Given the description of an element on the screen output the (x, y) to click on. 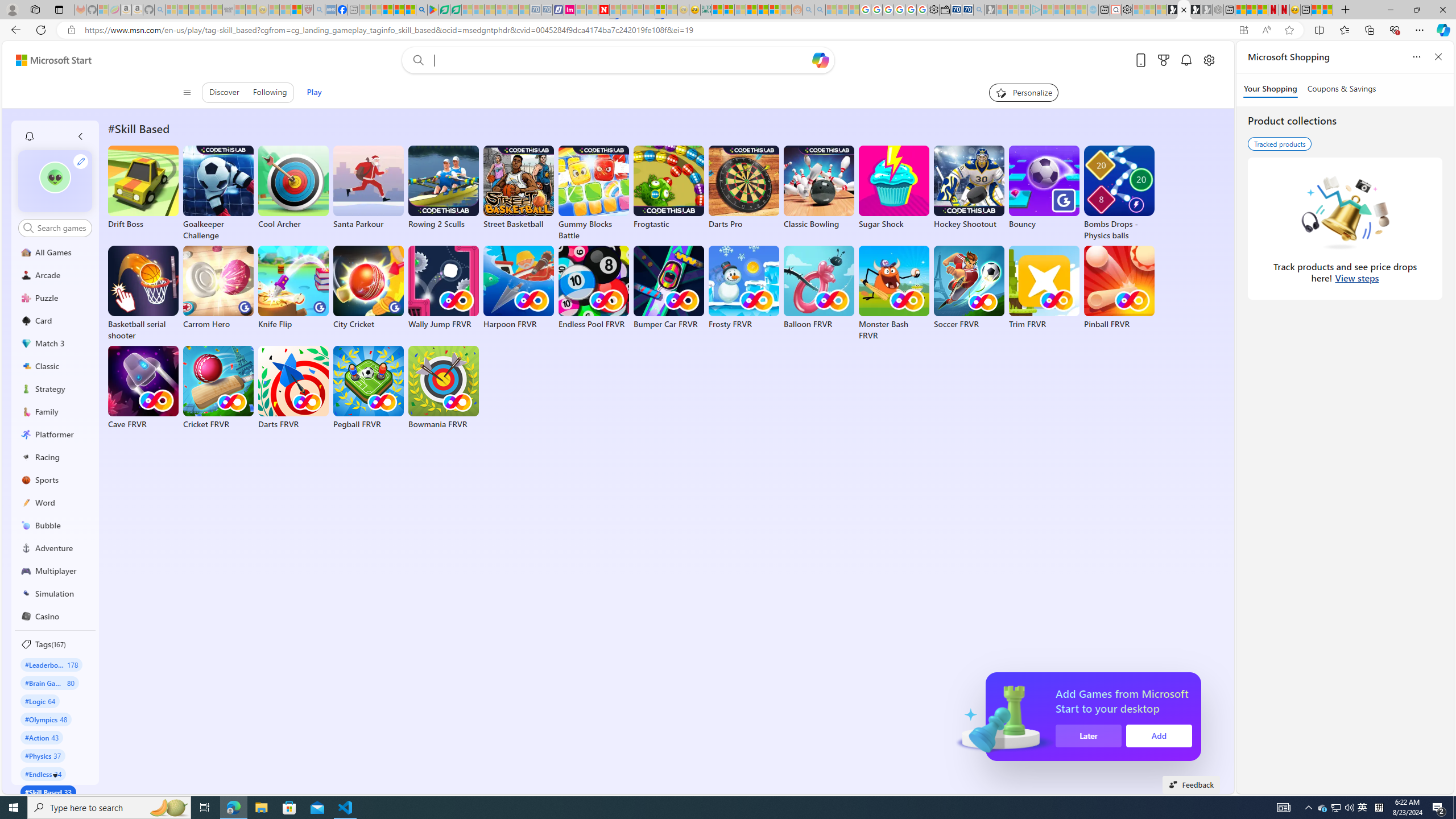
#Leaderboard 178 (51, 664)
Kinda Frugal - MSN (762, 9)
Knife Flip (293, 287)
Gummy Blocks Battle (593, 192)
#Skill Based 33 (47, 791)
Wallet (944, 9)
